Given the description of an element on the screen output the (x, y) to click on. 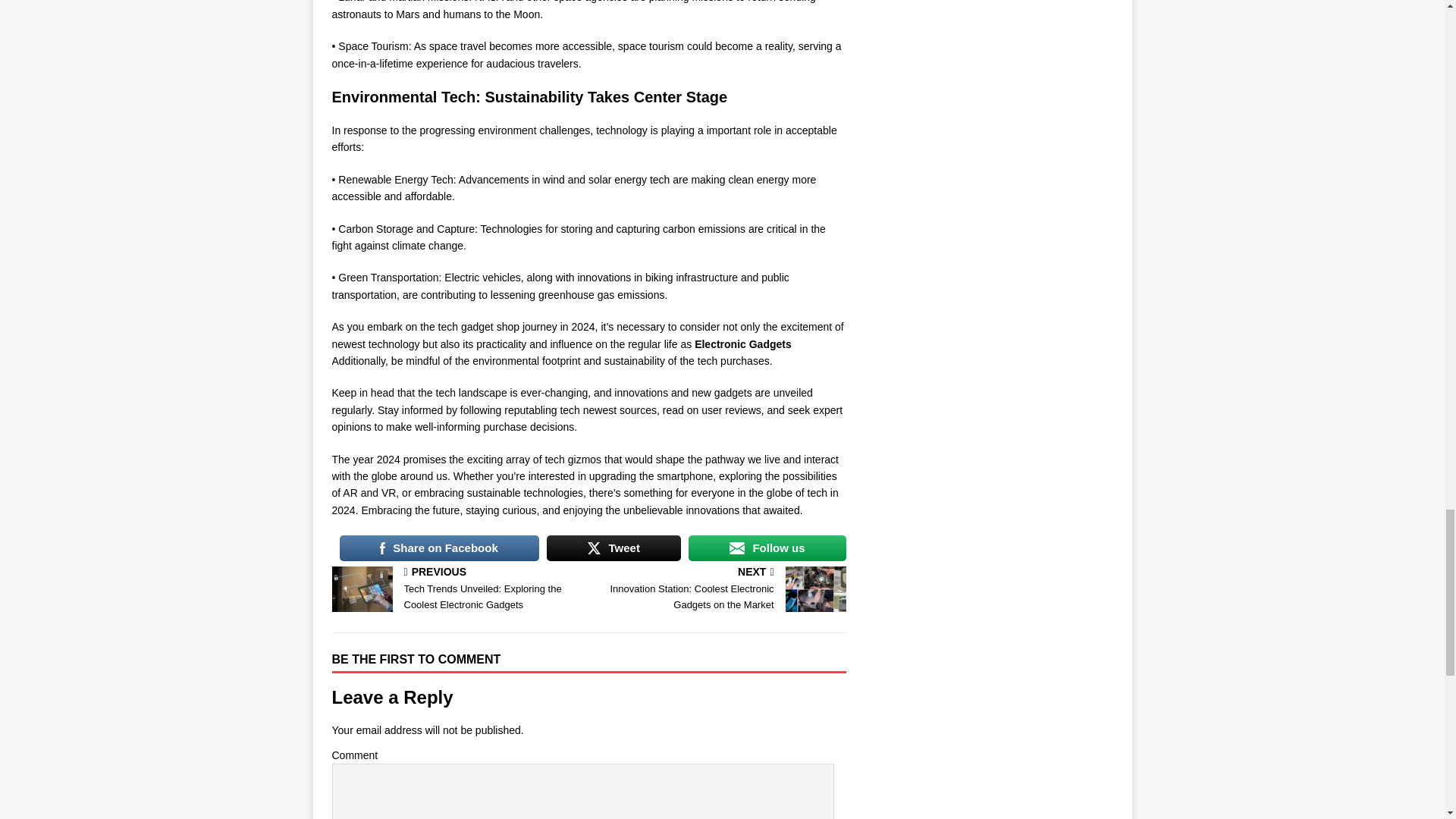
Tweet (614, 547)
Follow us (766, 547)
Share on Facebook (438, 547)
